Given the description of an element on the screen output the (x, y) to click on. 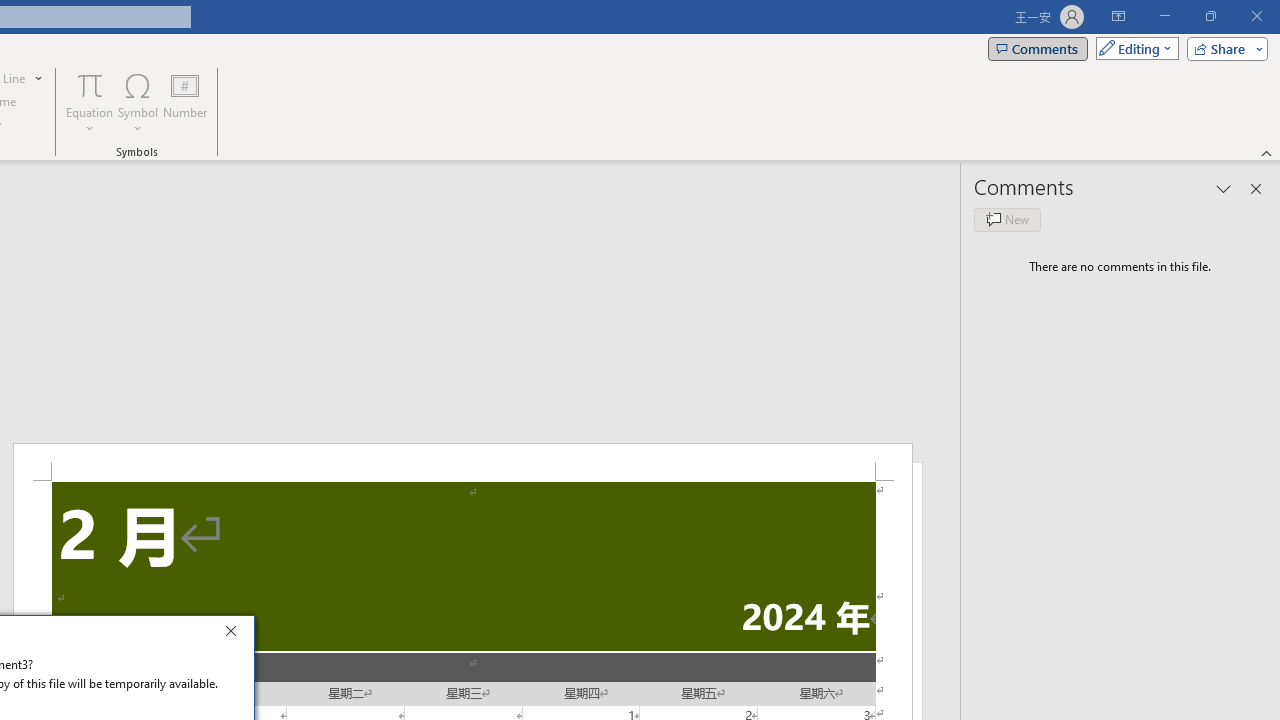
Equation (90, 84)
Symbol (138, 102)
New comment (1007, 219)
Equation (90, 102)
